Given the description of an element on the screen output the (x, y) to click on. 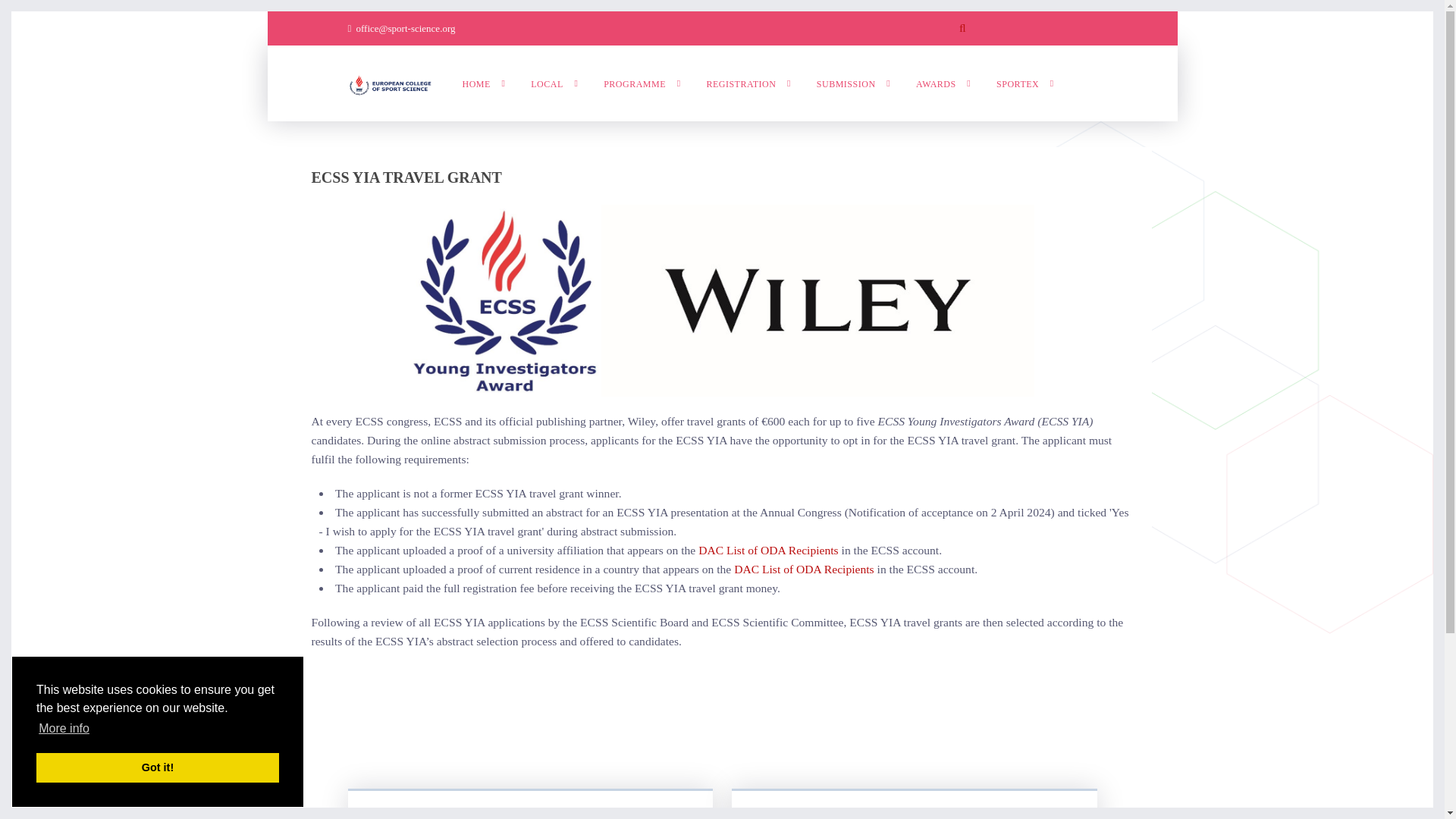
More info (63, 728)
Got it! (157, 767)
ECSS (388, 83)
HOME (484, 83)
